Given the description of an element on the screen output the (x, y) to click on. 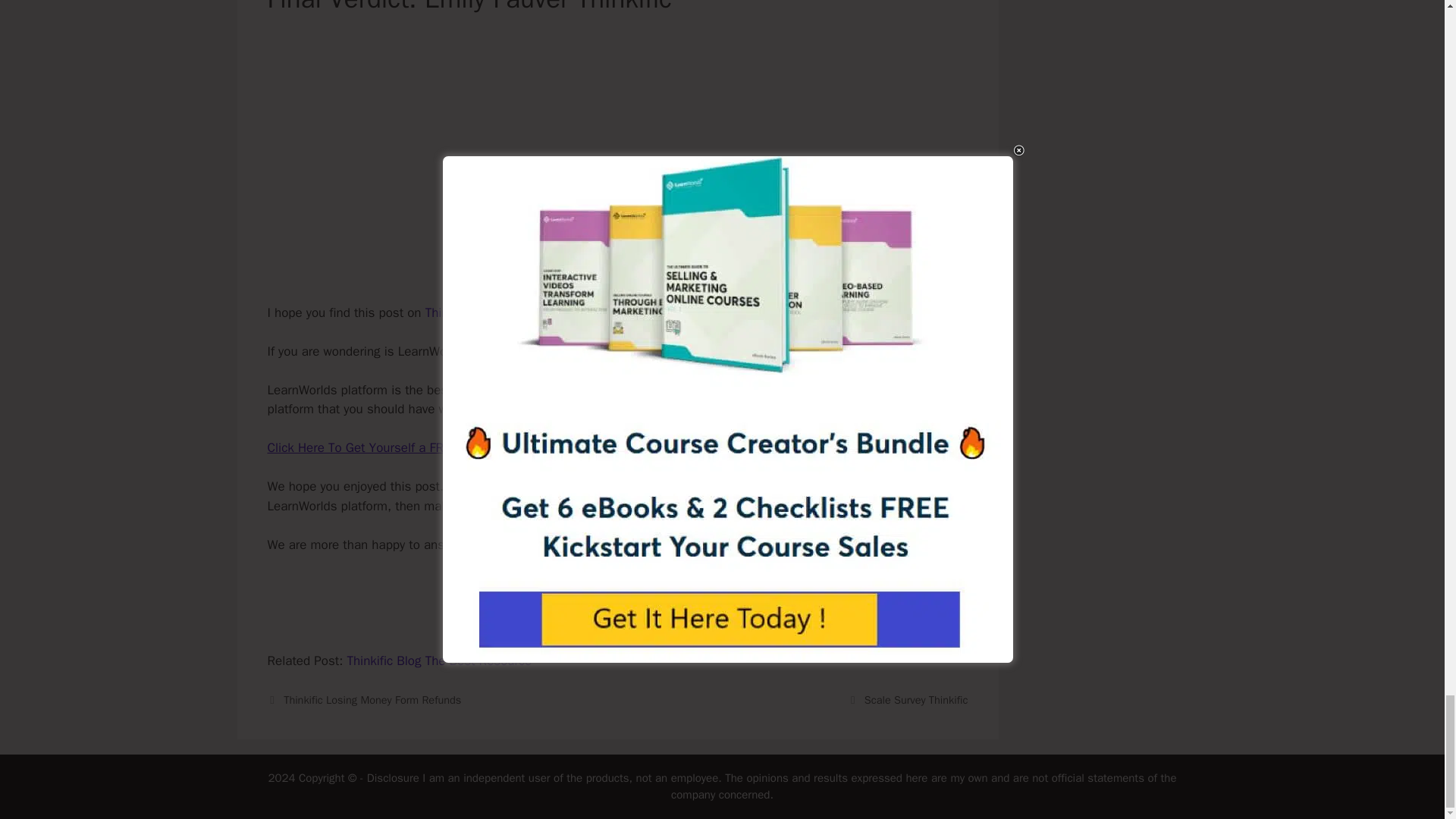
Scale Survey Thinkific (916, 699)
Click Here To Get Yourself a FREE TRIAL (379, 447)
Thinkific Losing Money Form Refunds (372, 699)
Thinkific Blog The Best Resource (438, 660)
Thinkific platform (473, 312)
